Given the description of an element on the screen output the (x, y) to click on. 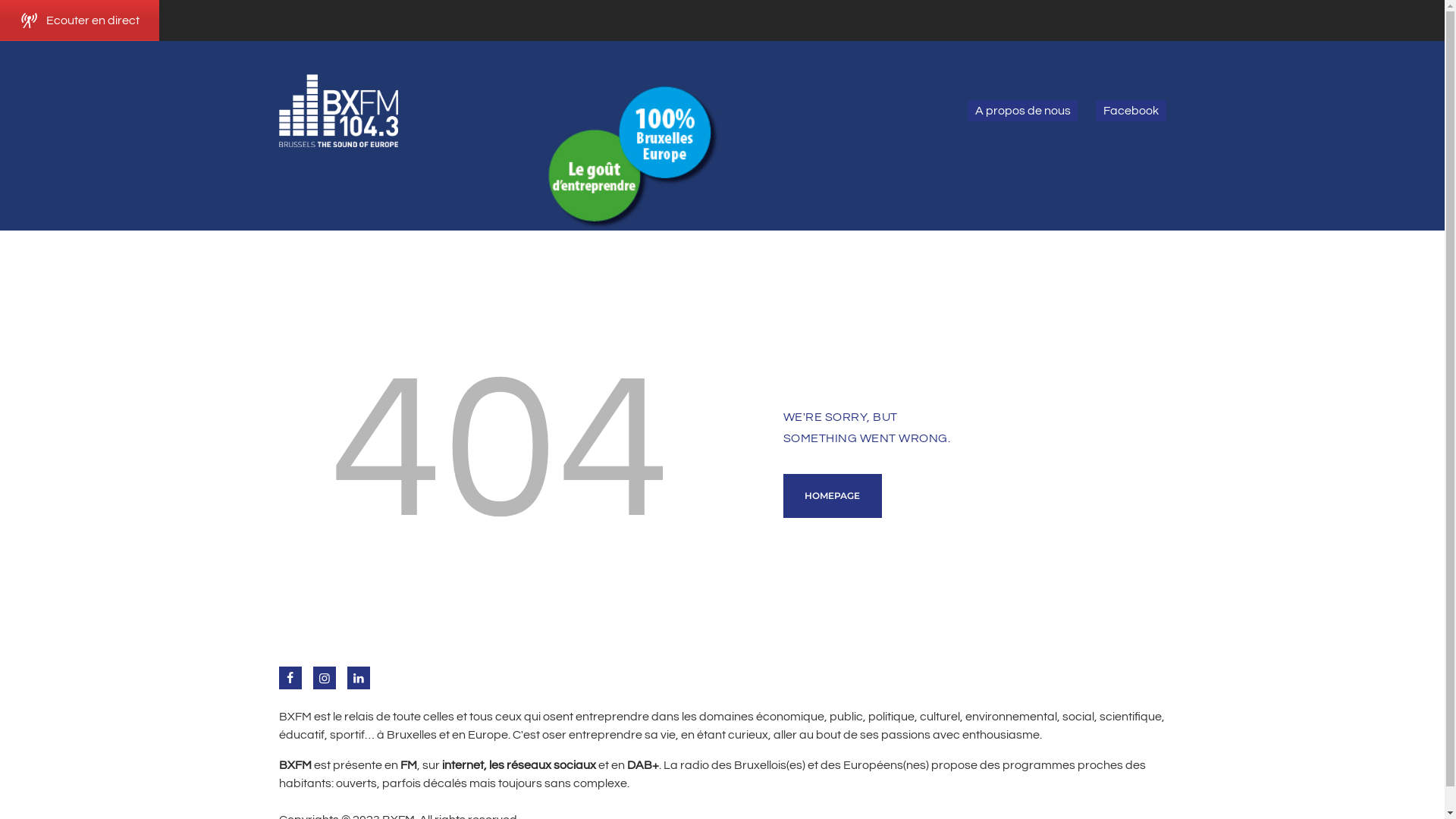
A propos de nous Element type: text (1022, 111)
Facebook Element type: text (1130, 111)
Ecouter en direct Element type: text (79, 20)
HOMEPAGE Element type: text (831, 495)
